Given the description of an element on the screen output the (x, y) to click on. 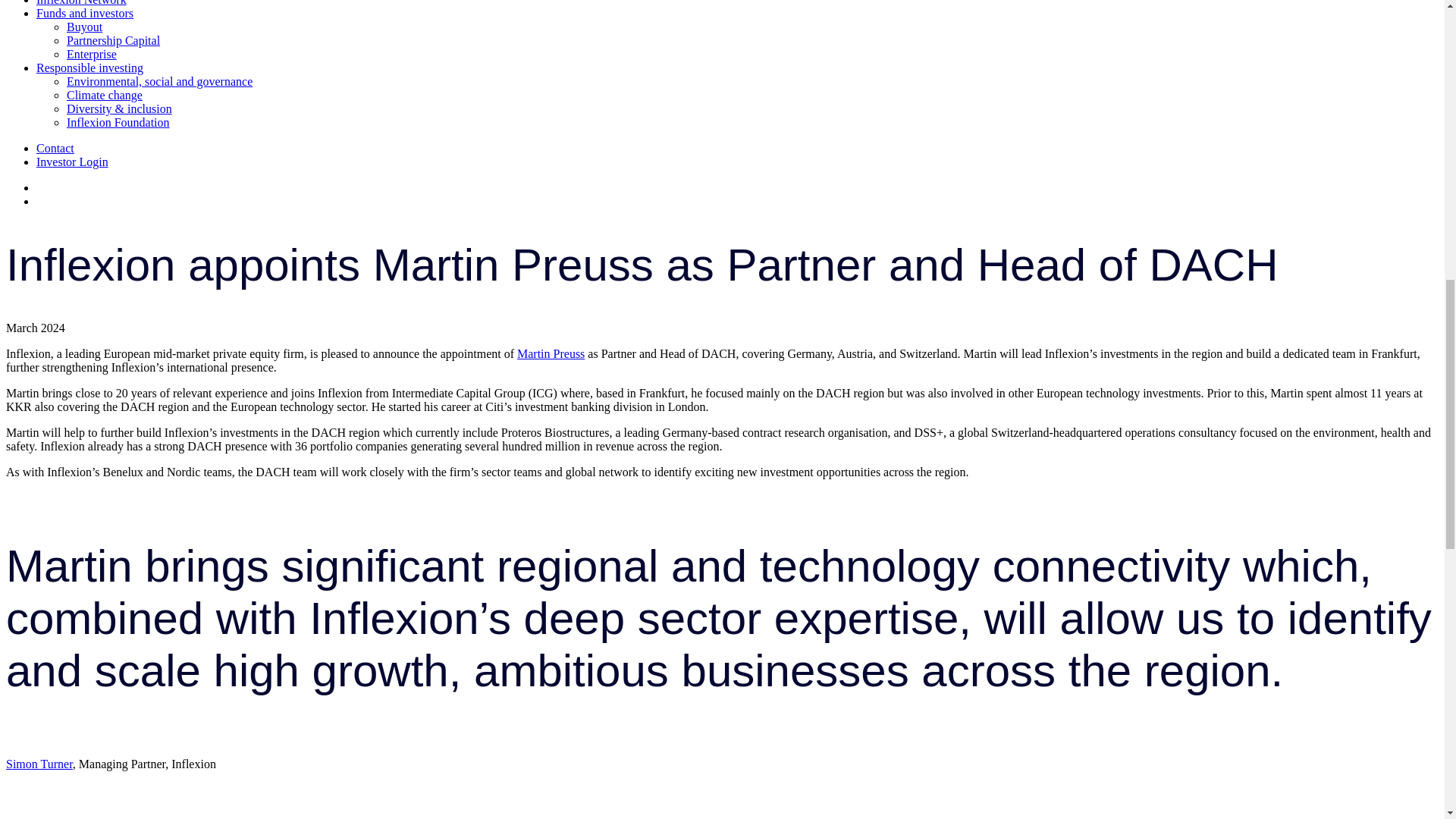
Enterprise (91, 53)
Simon Turner (38, 763)
Partnership Capital (113, 40)
Funds and investors (84, 12)
Martin Preuss (550, 353)
Buyout (83, 26)
Inflexion Network (81, 2)
